Given the description of an element on the screen output the (x, y) to click on. 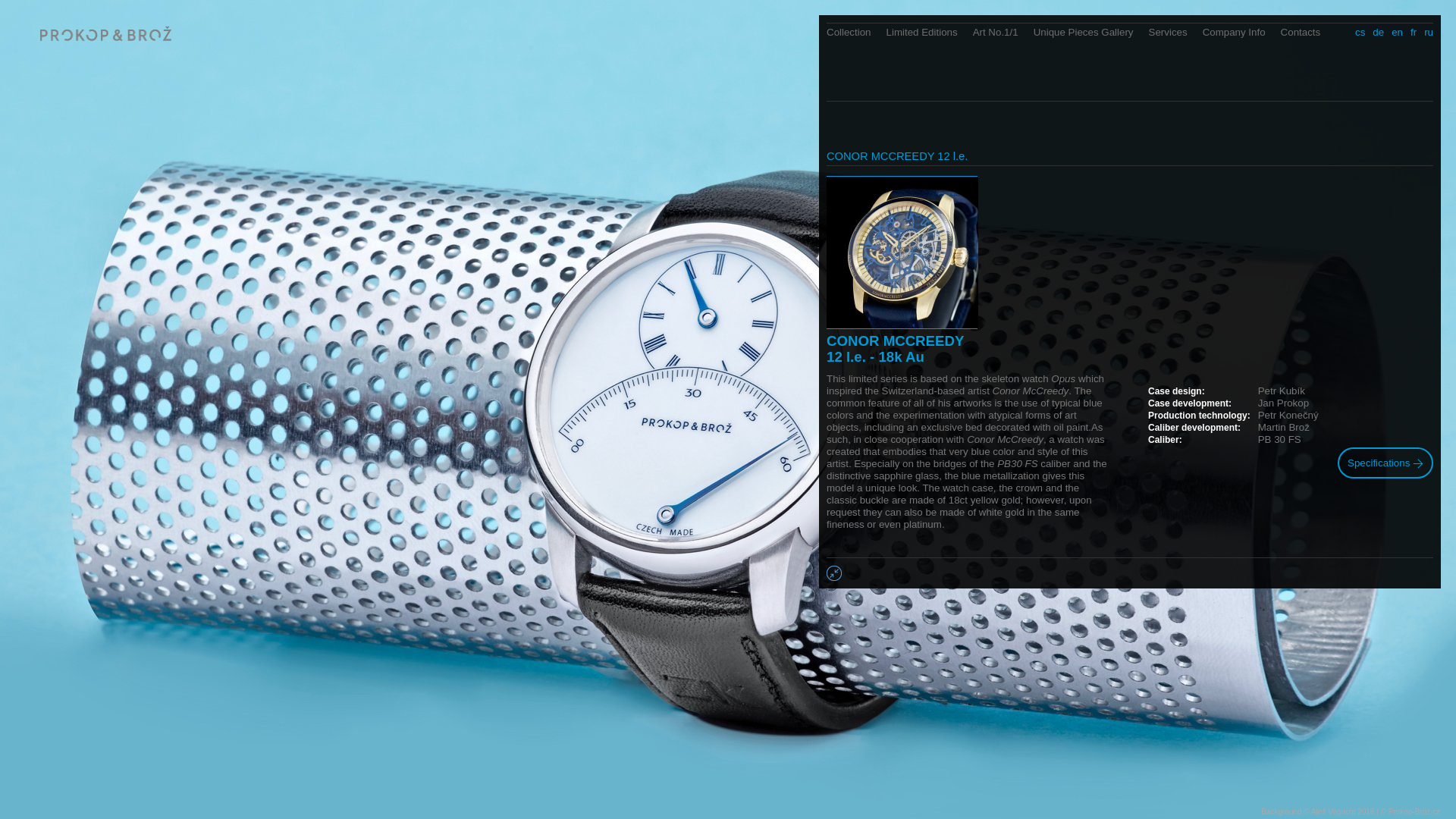
Go to home page (105, 39)
Collection (856, 31)
Collection (856, 31)
